Given the description of an element on the screen output the (x, y) to click on. 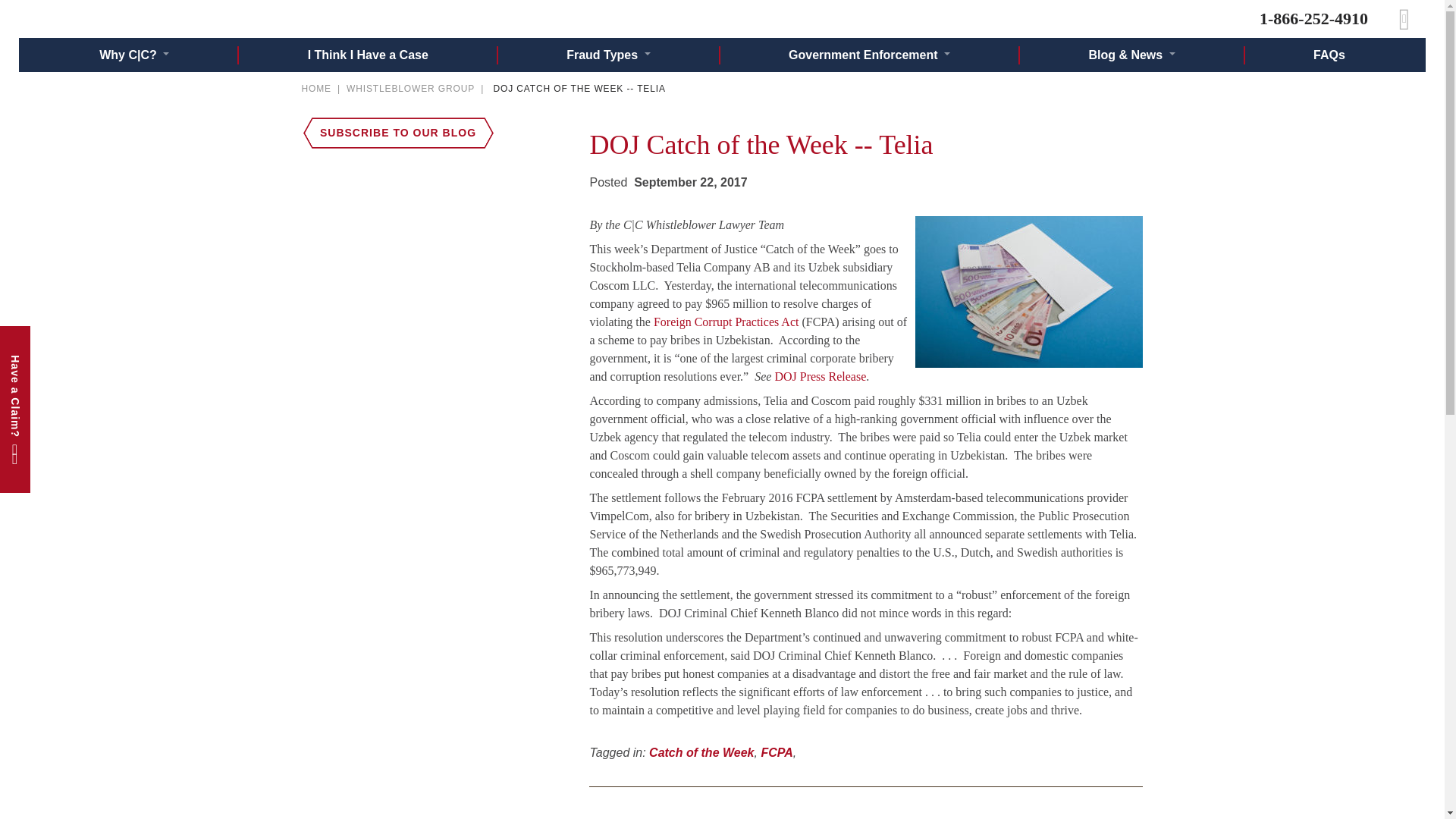
Constantine Cannon (147, 18)
1-866-252-4910 (1313, 18)
I Think I Have a Case (367, 54)
Fraud Types (607, 54)
